Given the description of an element on the screen output the (x, y) to click on. 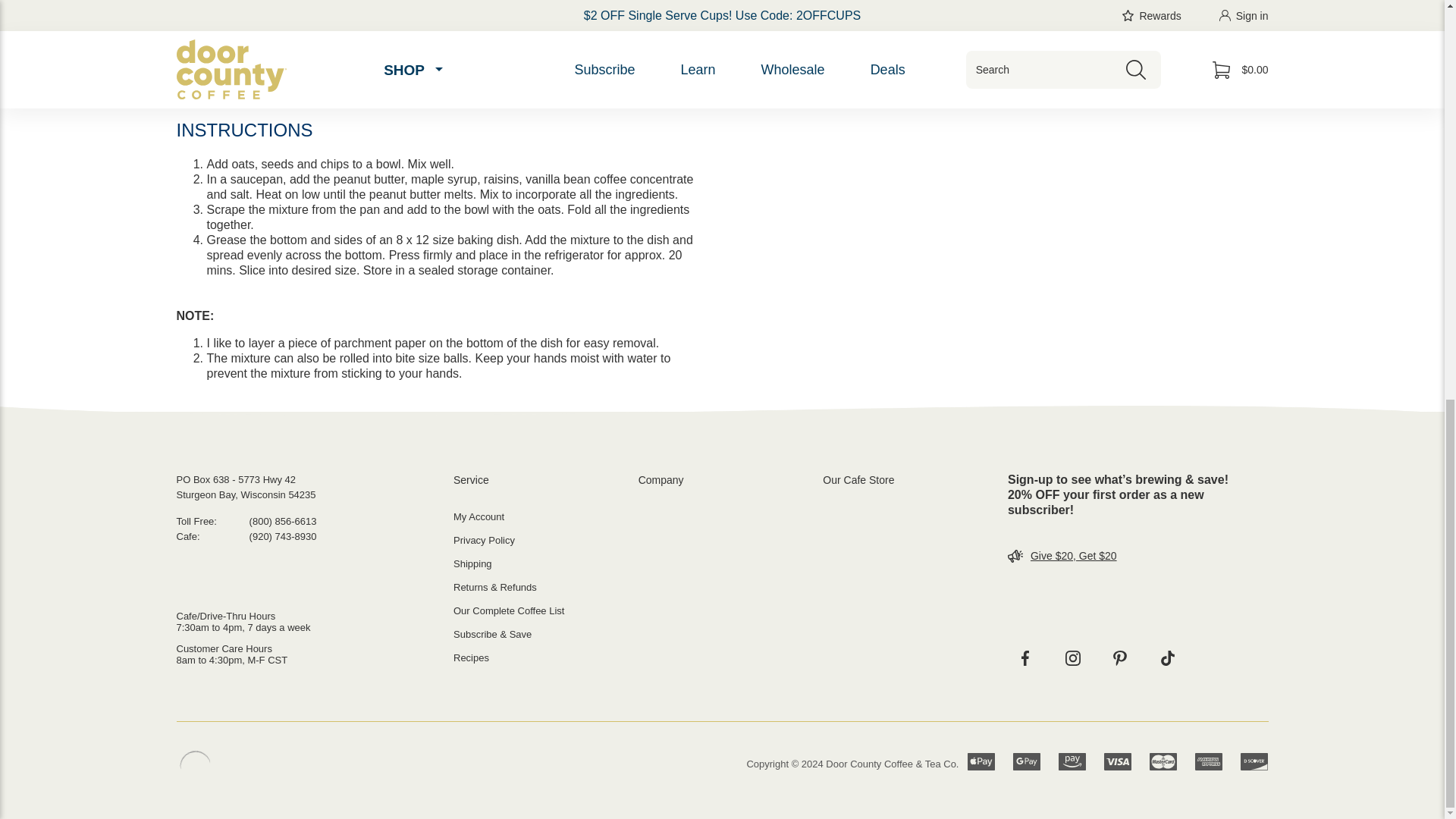
View our pinterest. Opens in a new window. (1119, 657)
View our youtube. Opens in a new window. (1167, 657)
View our instagram. Opens in a new window. (1072, 657)
View our facebook. Opens in a new window. (1024, 657)
